Given the description of an element on the screen output the (x, y) to click on. 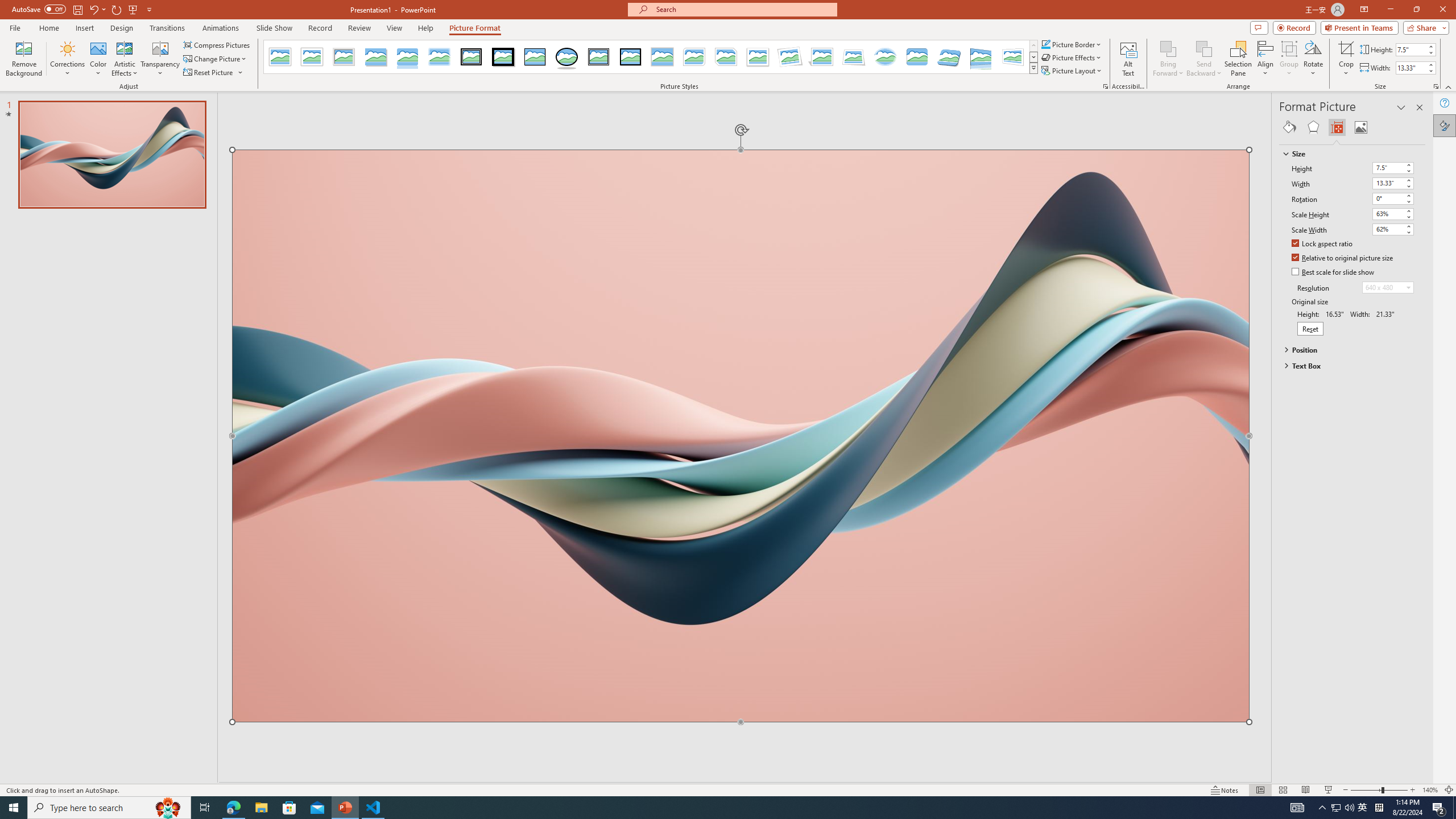
Picture Effects (1072, 56)
Compress Pictures... (217, 44)
Quick Styles (1033, 67)
Picture Layout (1072, 69)
Compound Frame, Black (598, 56)
Bring Forward (1168, 58)
Double Frame, Black (471, 56)
Bring Forward (1168, 48)
